Given the description of an element on the screen output the (x, y) to click on. 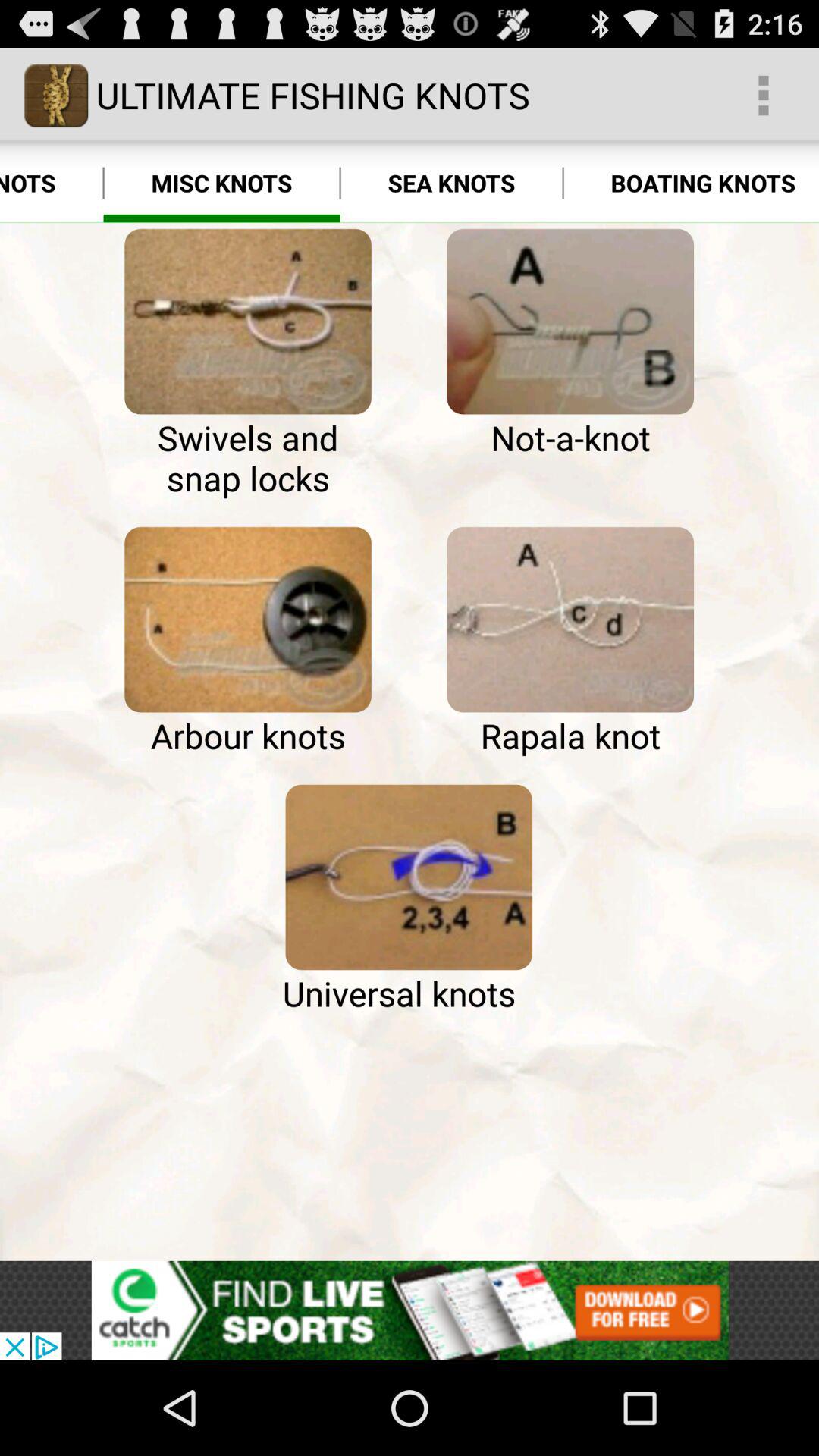
open icon next to the hook knots (247, 321)
